Given the description of an element on the screen output the (x, y) to click on. 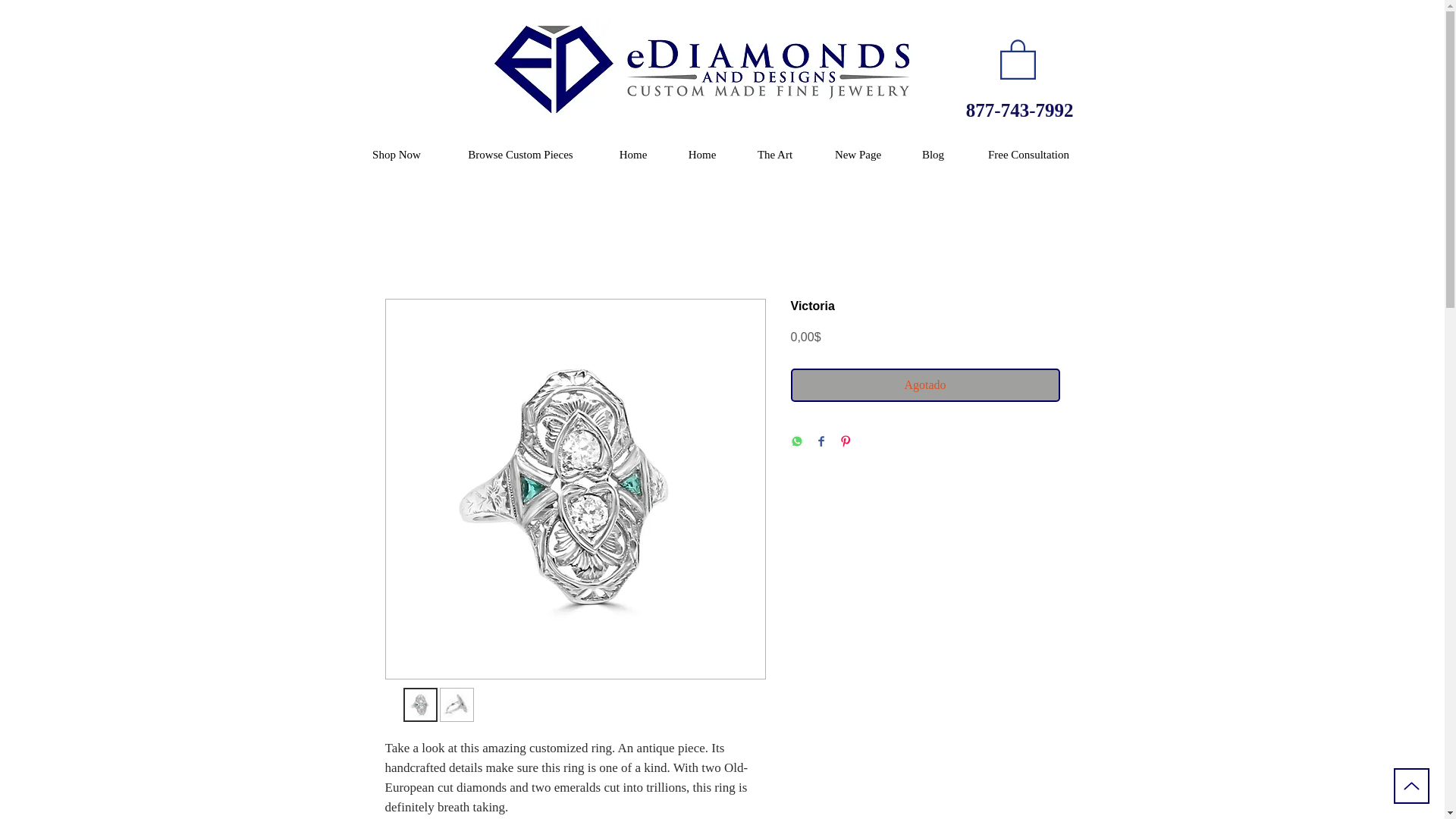
Blog (932, 154)
Browse Custom Pieces (520, 154)
Home (633, 154)
The Art (774, 154)
Shop Now (396, 154)
Agotado (924, 385)
Home (701, 154)
Free Consultation (1027, 154)
New Page (857, 154)
